Given the description of an element on the screen output the (x, y) to click on. 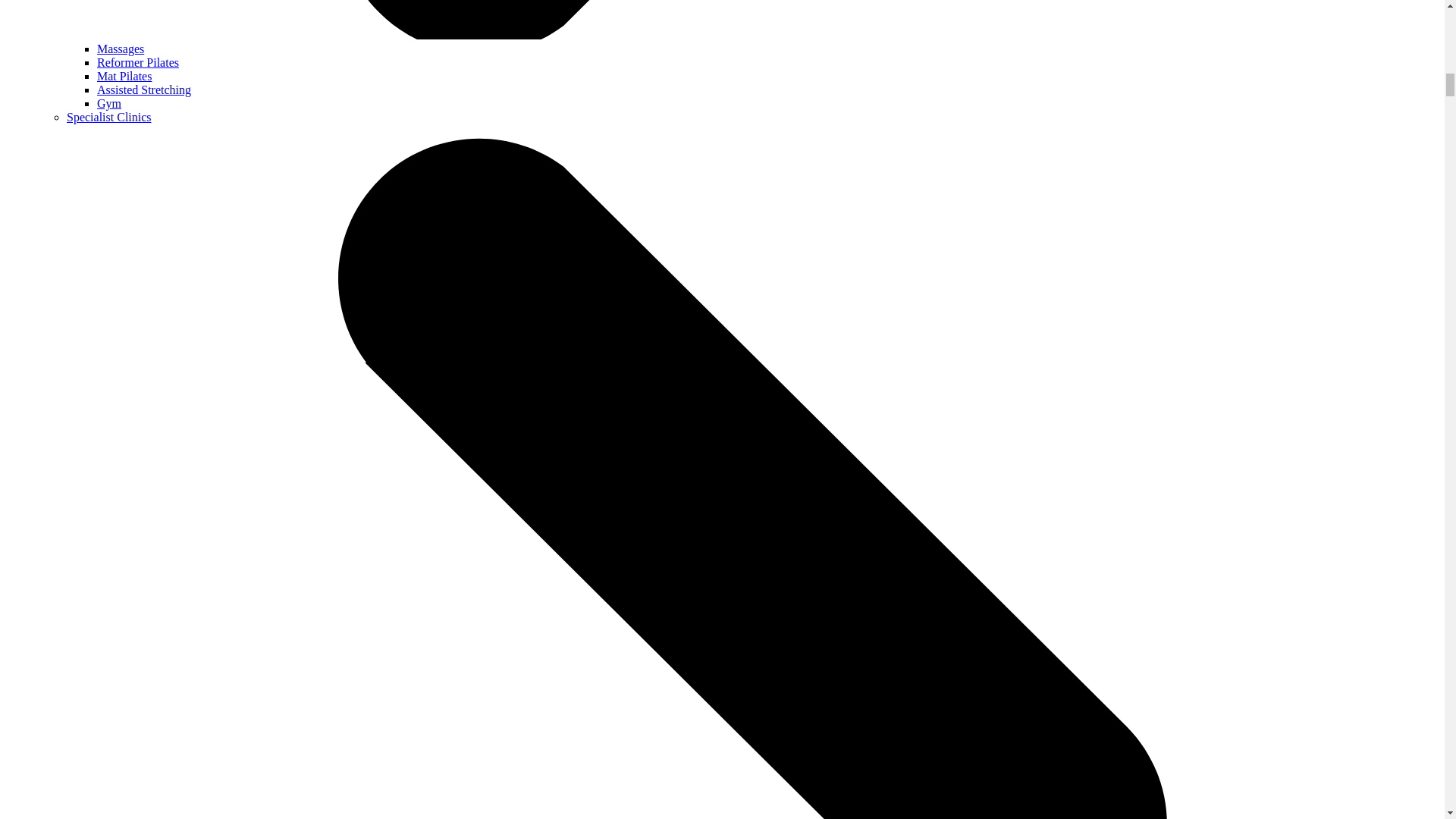
Reformer Pilates (138, 62)
Gym (108, 103)
View Massages. (120, 48)
View Mat Pilates. (124, 75)
Mat Pilates (124, 75)
Massages (120, 48)
View Reformer Pilates. (138, 62)
Assisted Stretching (143, 89)
